Given the description of an element on the screen output the (x, y) to click on. 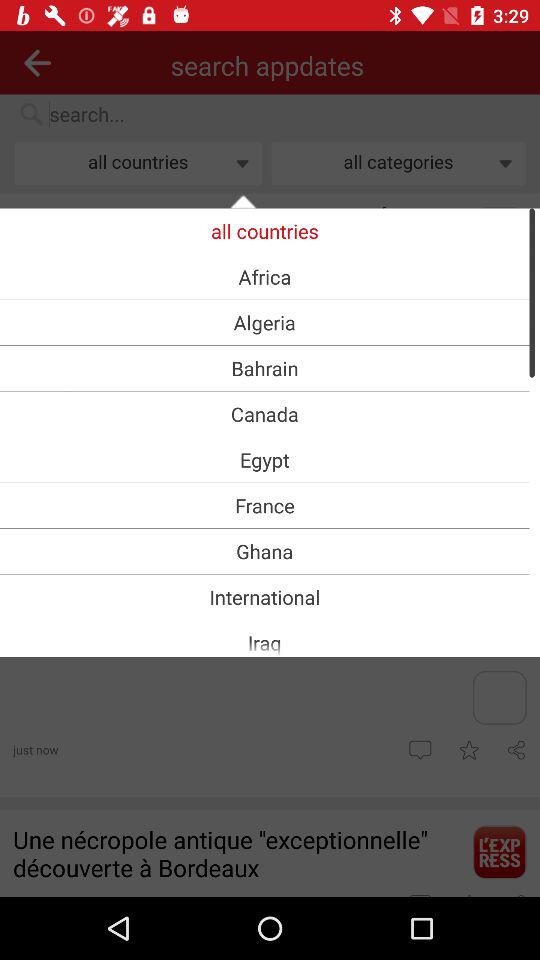
select icon above the bahrain icon (264, 322)
